Given the description of an element on the screen output the (x, y) to click on. 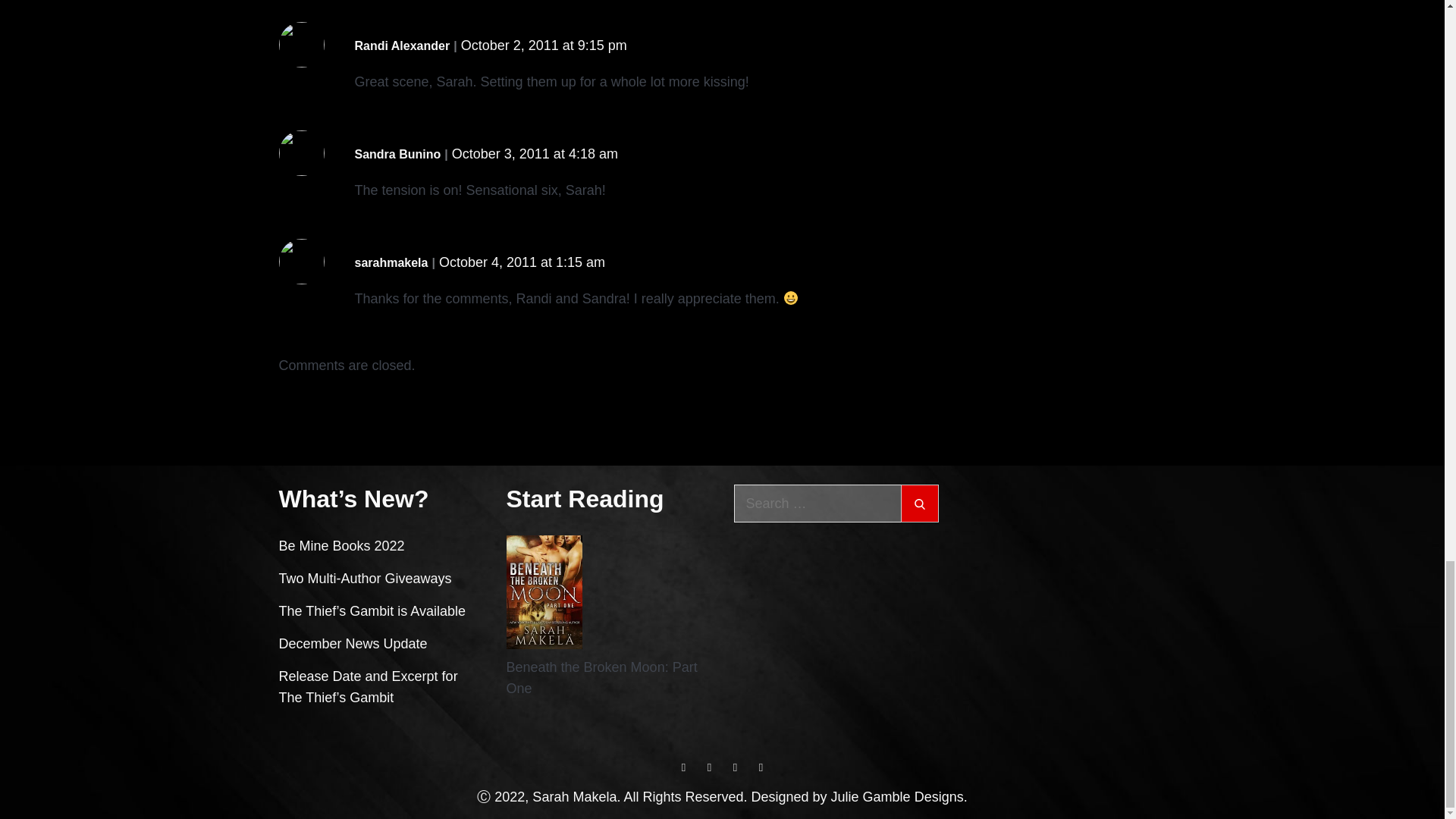
October 2, 2011 at 9:15 pm (544, 45)
October 3, 2011 at 4:18 am (534, 153)
October 4, 2011 at 1:15 am (522, 262)
Be Mine Books 2022 (341, 545)
Sandra Bunino (398, 154)
sarahmakela (391, 262)
December News Update (353, 643)
Randi Alexander (402, 46)
Two Multi-Author Giveaways (365, 578)
